Given the description of an element on the screen output the (x, y) to click on. 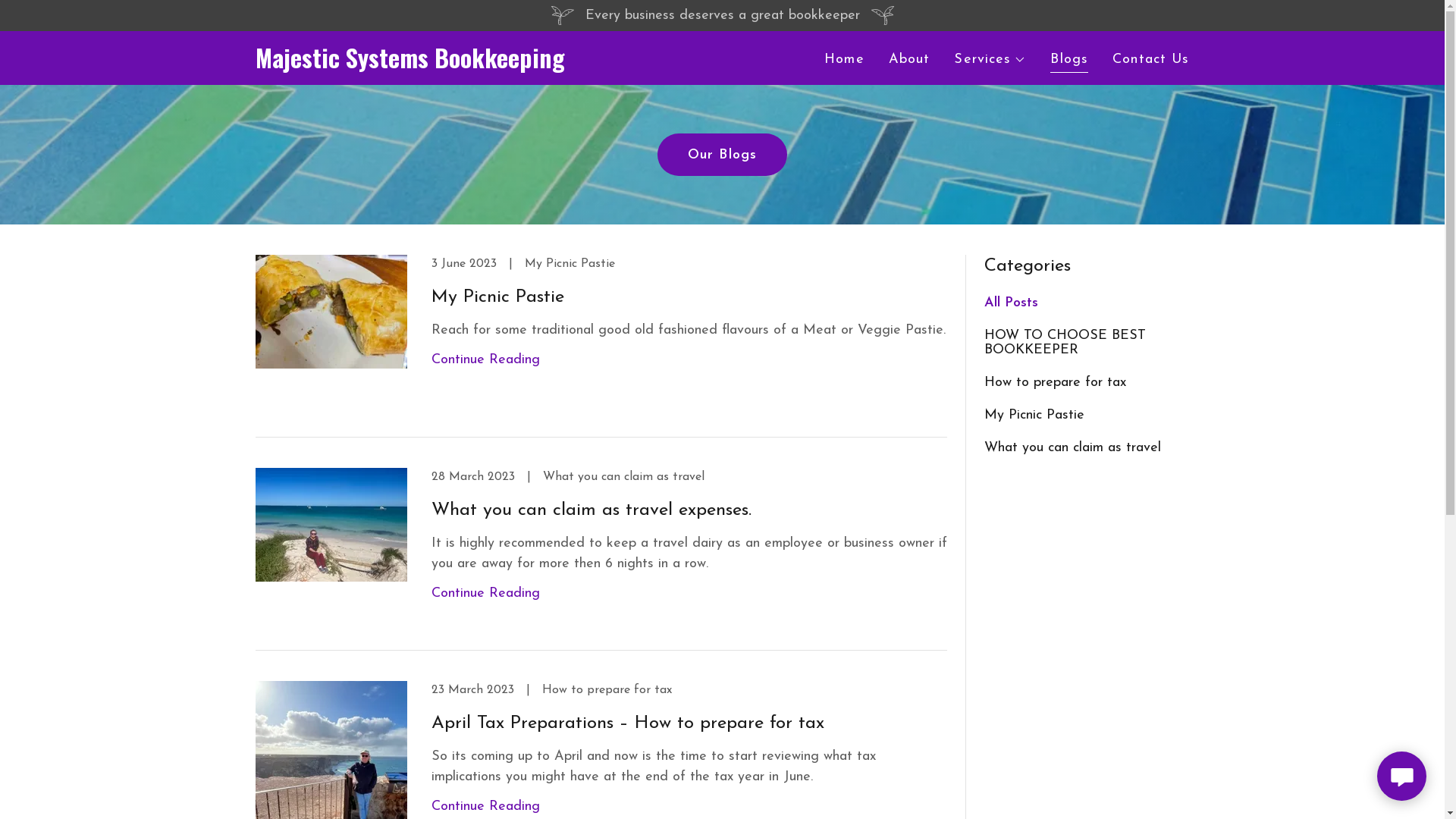
All Posts Element type: text (1086, 302)
Majestic Systems Bookkeeping Element type: text (417, 64)
Contact Us Element type: text (1150, 59)
What you can claim as travel Element type: text (1086, 447)
How to prepare for tax Element type: text (1086, 382)
Our Blogs Element type: text (722, 154)
Services Element type: text (989, 59)
About Element type: text (909, 59)
Every business deserves a great bookkeeper Element type: text (722, 15)
HOW TO CHOOSE BEST BOOKKEEPER Element type: text (1086, 342)
Blogs Element type: text (1069, 61)
My Picnic Pastie Element type: text (1086, 414)
Home Element type: text (844, 59)
